Given the description of an element on the screen output the (x, y) to click on. 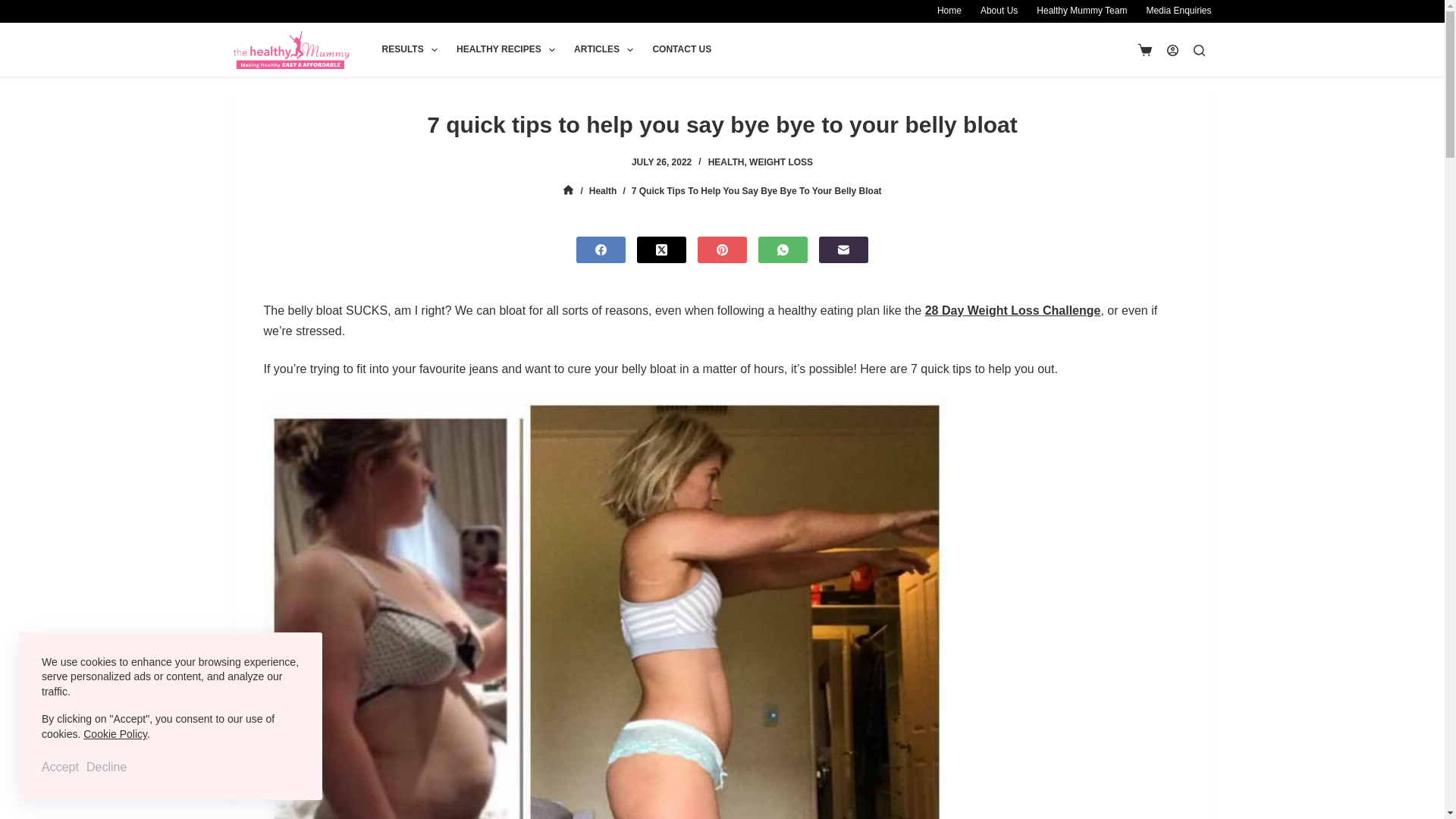
Accept (60, 767)
Healthy Mummy Team (1082, 11)
Home (949, 11)
About Us (998, 11)
HEALTHY RECIPES (505, 49)
Cookie Policy (114, 734)
Decline (105, 767)
Media Enquiries (1174, 11)
RESULTS (409, 49)
7 quick tips to help you say bye bye to your belly bloat (721, 124)
Skip to content (15, 7)
